Given the description of an element on the screen output the (x, y) to click on. 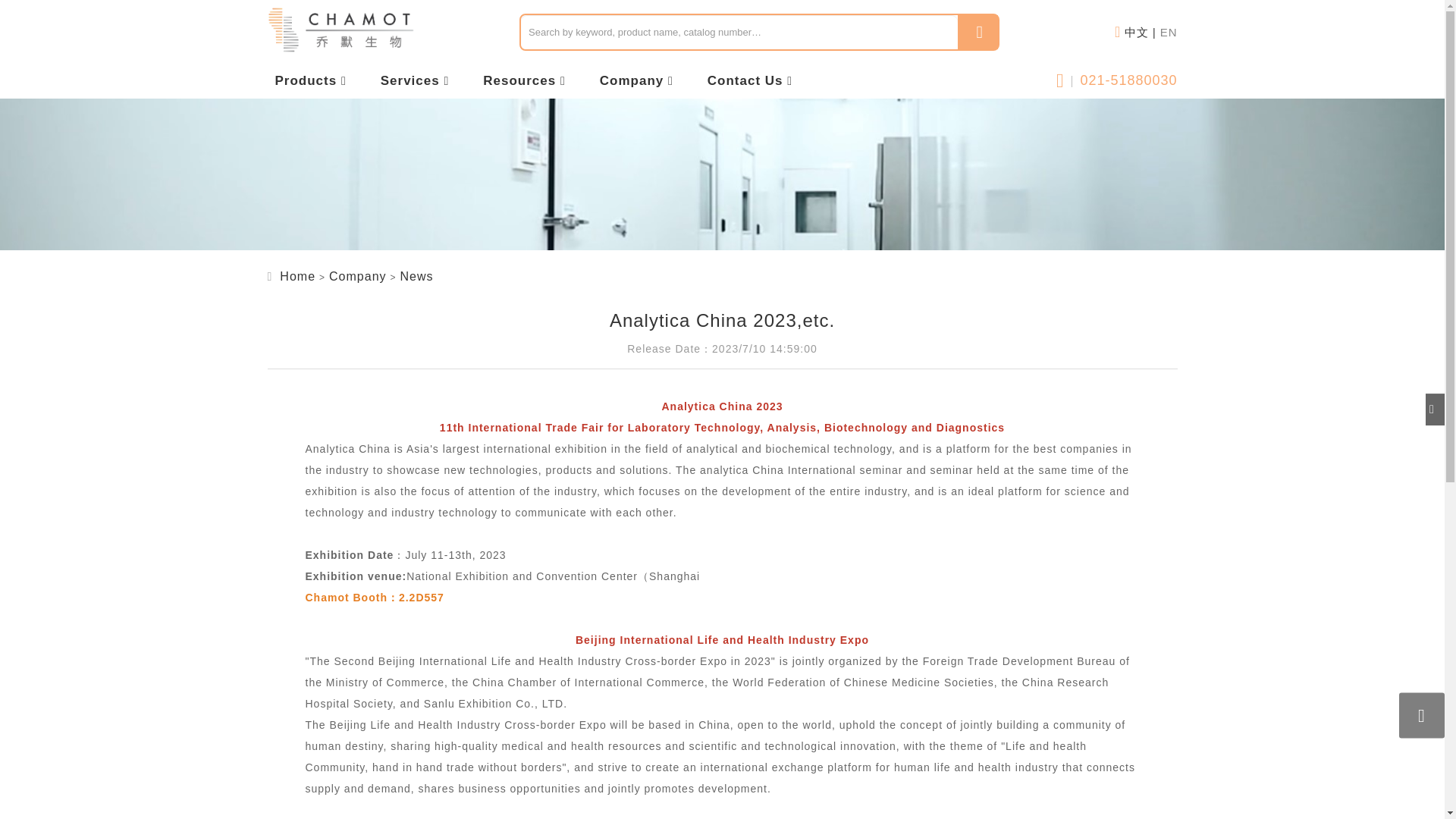
Services (414, 80)
Products (310, 80)
